Given the description of an element on the screen output the (x, y) to click on. 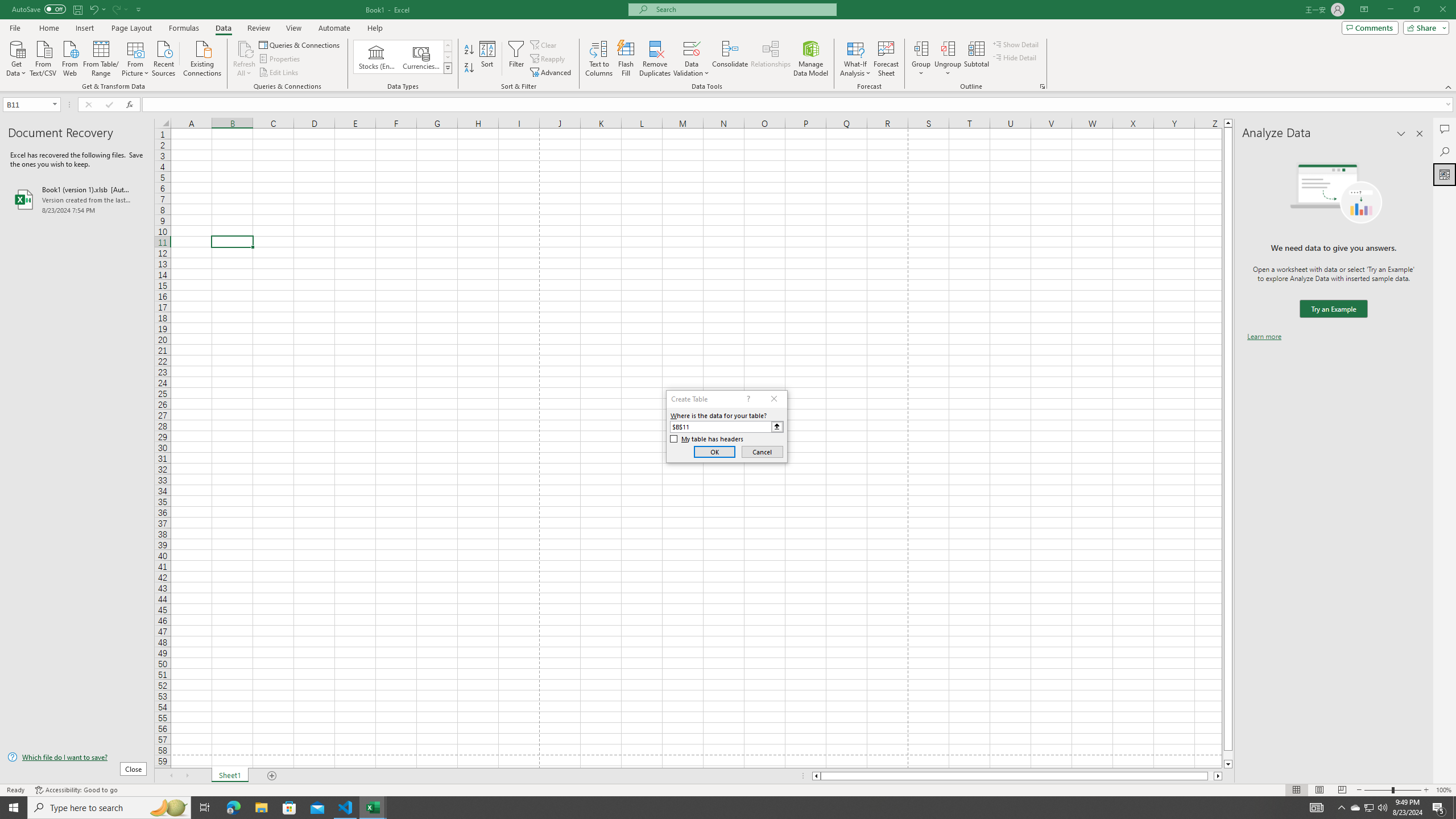
From Web (69, 57)
Subtotal (976, 58)
Get Data (16, 57)
Queries & Connections (300, 44)
Data Types (448, 67)
